Given the description of an element on the screen output the (x, y) to click on. 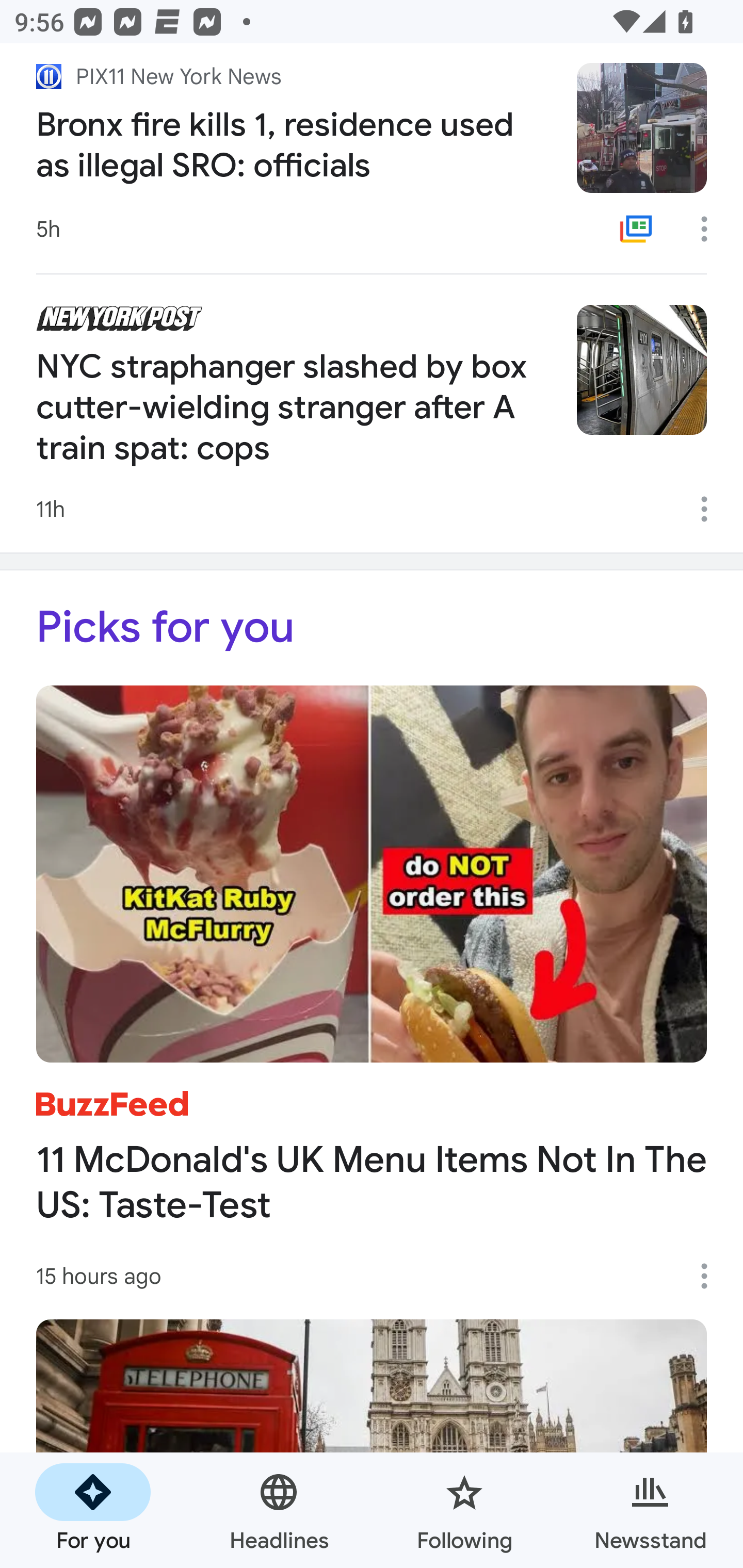
More options (711, 228)
More options (711, 508)
More options (711, 1276)
For you (92, 1509)
Headlines (278, 1509)
Following (464, 1509)
Newsstand (650, 1509)
